Given the description of an element on the screen output the (x, y) to click on. 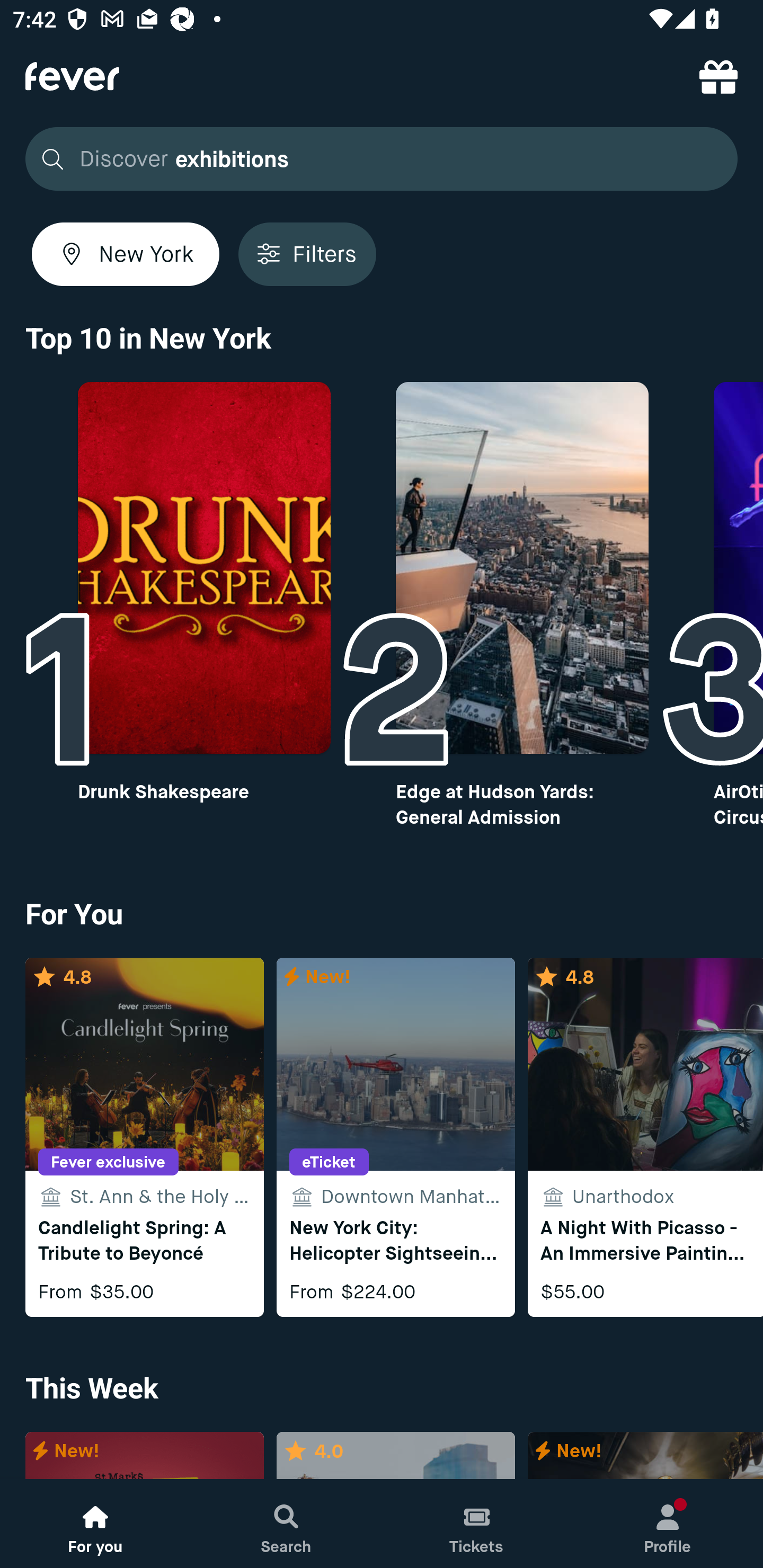
referral (718, 75)
Discover exhibitions (381, 158)
Discover exhibitions (376, 158)
New York (125, 253)
Filters (307, 253)
Top10 image (203, 568)
Top10 image (521, 568)
Search (285, 1523)
Tickets (476, 1523)
Profile, New notification Profile (667, 1523)
